Given the description of an element on the screen output the (x, y) to click on. 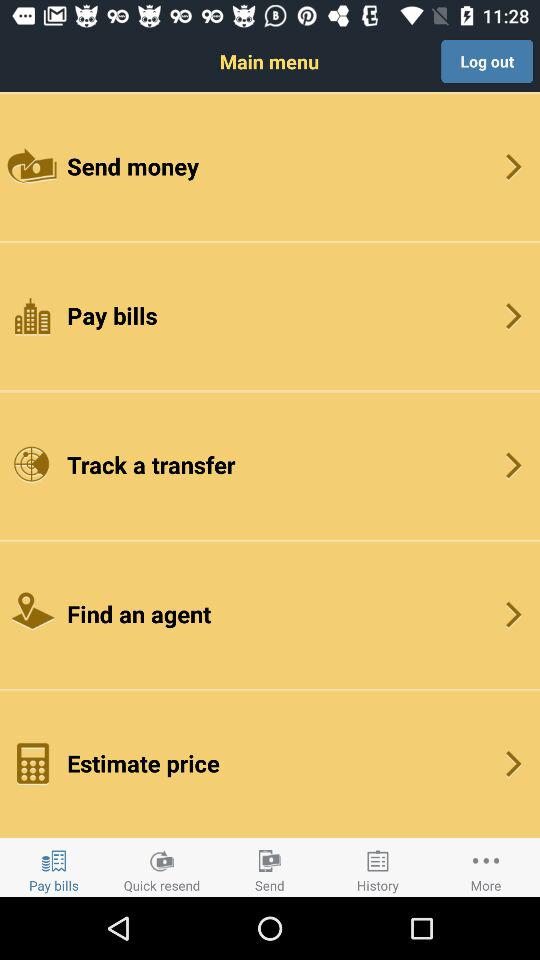
choose button below track a transfer item (270, 613)
